Given the description of an element on the screen output the (x, y) to click on. 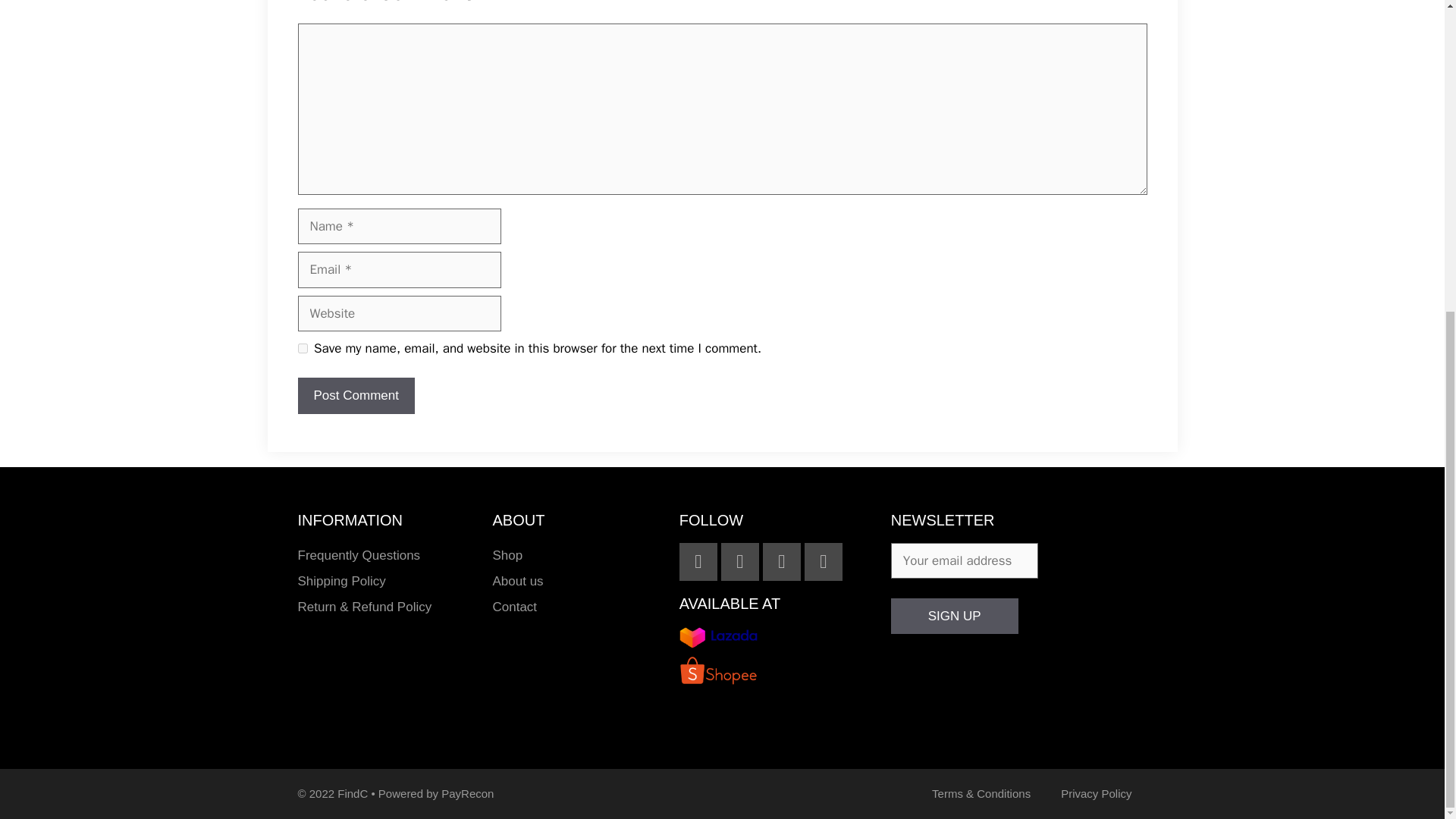
Post Comment (355, 395)
Contact (578, 606)
SIGN UP (954, 616)
Frequently Questions (387, 555)
Post Comment (355, 395)
yes (302, 347)
About us (578, 581)
Shipping Policy (387, 581)
Privacy Policy (1096, 793)
Shop (578, 555)
SIGN UP (954, 616)
